Given the description of an element on the screen output the (x, y) to click on. 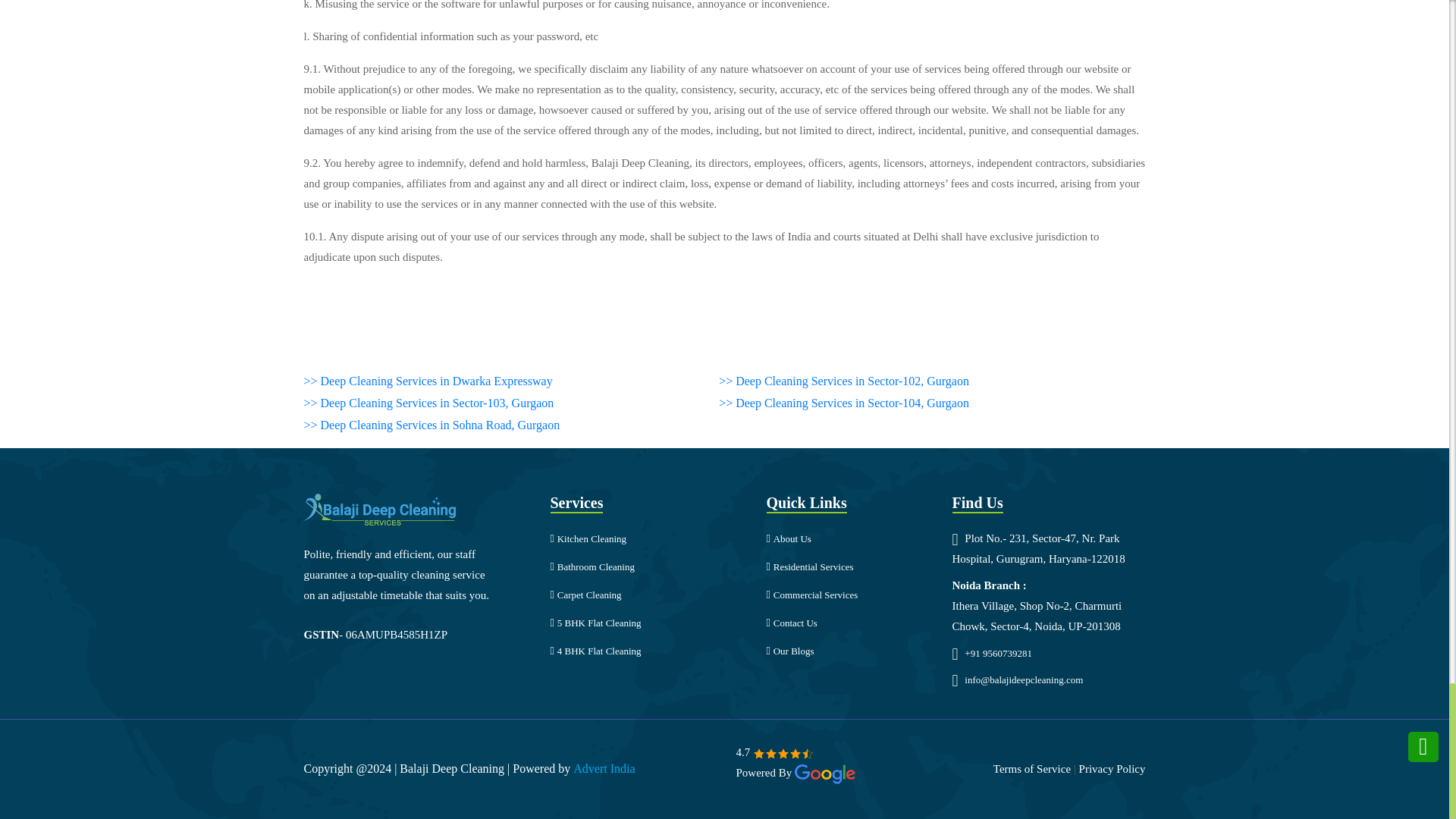
Deep Cleaning Services in Sector-103, Gurgaon (427, 403)
Deep Cleaning Services in Sector-104, Gurgaon (844, 403)
Deep Cleaning Services in Sector-102, Gurgaon (844, 382)
Deep Cleaning Services in Dwarka Expressway (426, 382)
Deep Cleaning Services in Sohna Road, Gurgaon (430, 425)
